Given the description of an element on the screen output the (x, y) to click on. 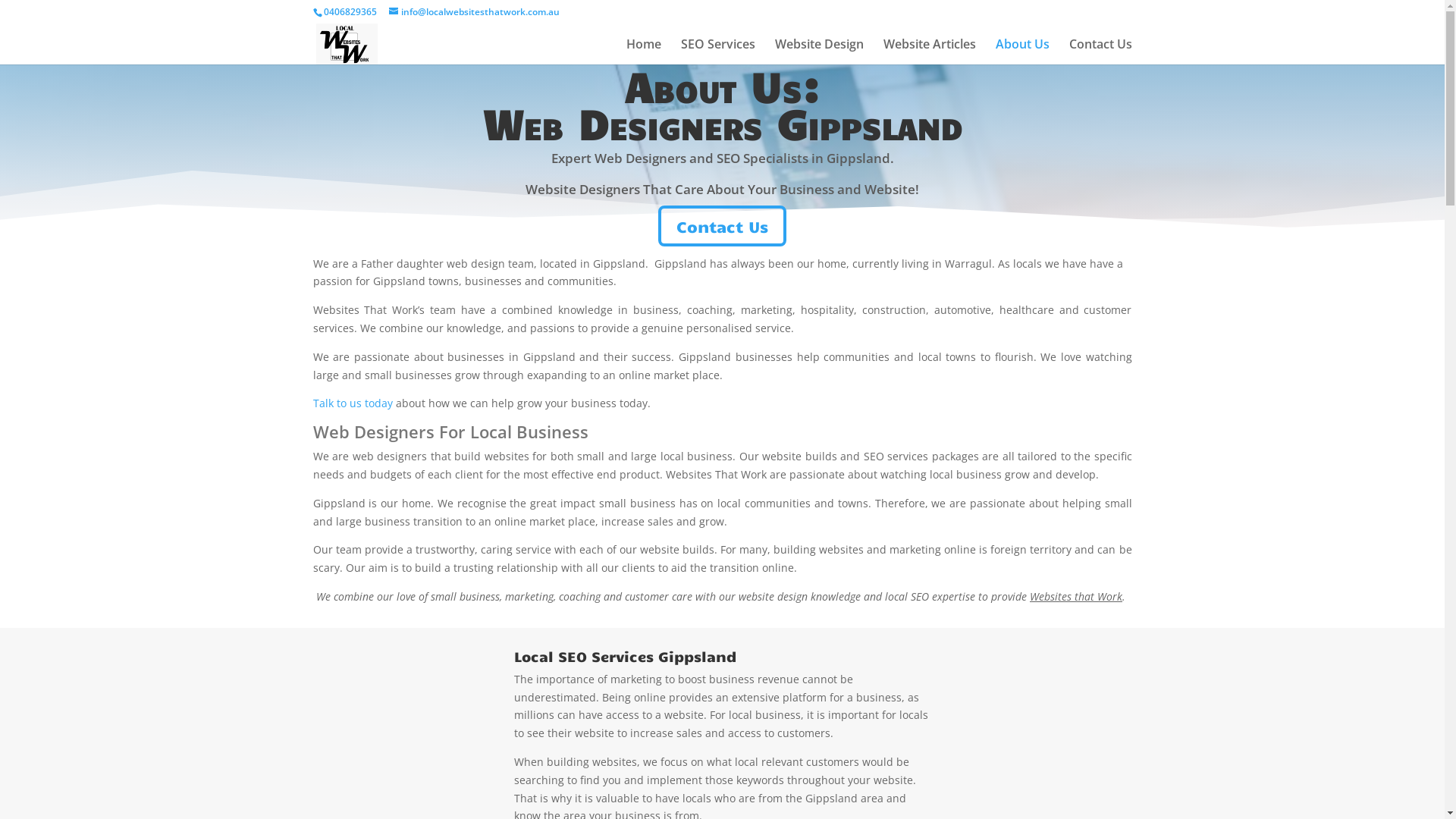
info@localwebsitesthatwork.com.au Element type: text (473, 11)
Contact Us Element type: text (1100, 51)
Website Articles Element type: text (928, 51)
Talk to us today Element type: text (352, 402)
About Us Element type: text (1021, 51)
Contact Us Element type: text (722, 225)
SEO Services Element type: text (717, 51)
Website Design Element type: text (819, 51)
Home Element type: text (643, 51)
